Given the description of an element on the screen output the (x, y) to click on. 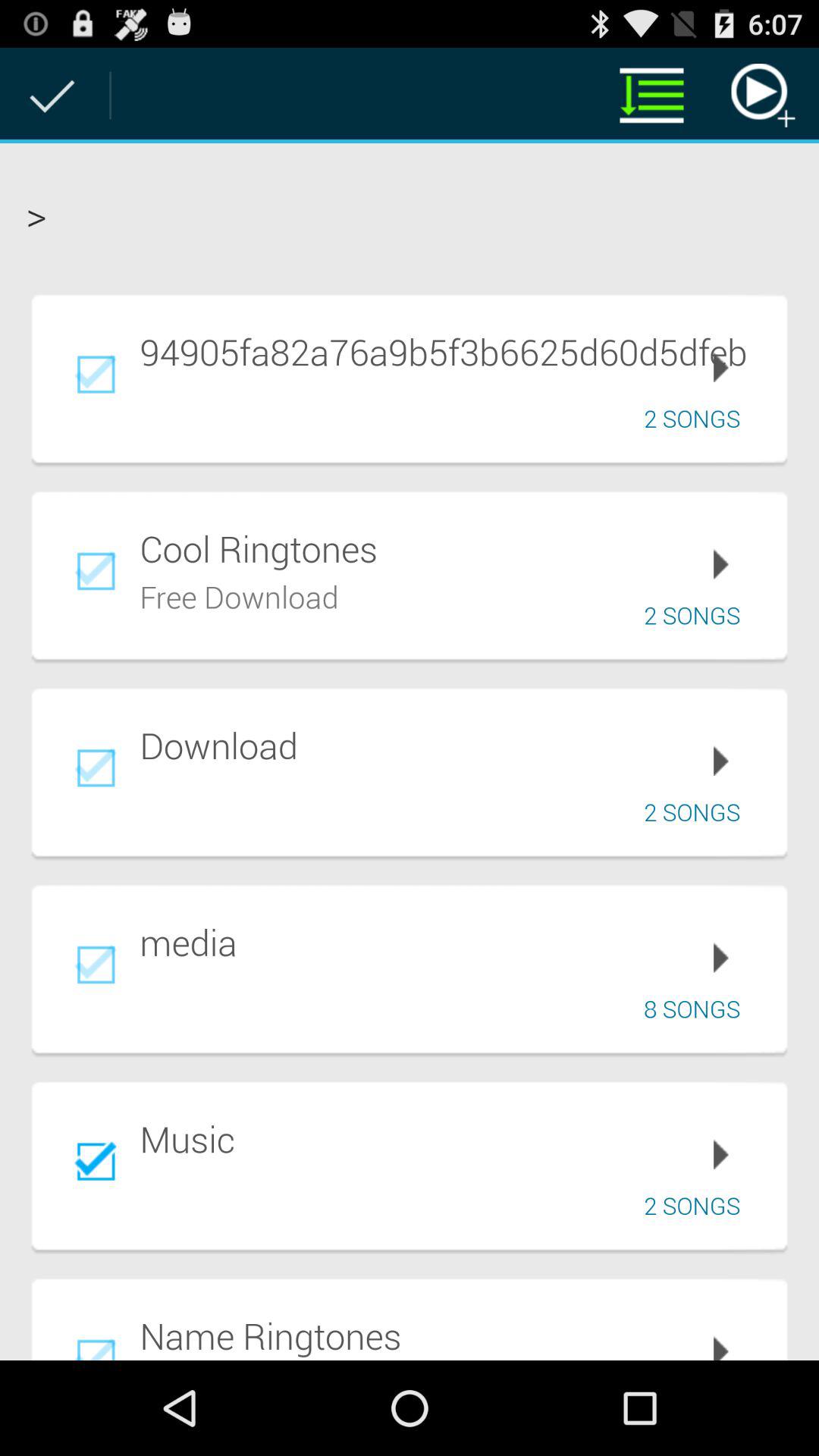
launch the icon next to 2 songs icon (238, 594)
